Given the description of an element on the screen output the (x, y) to click on. 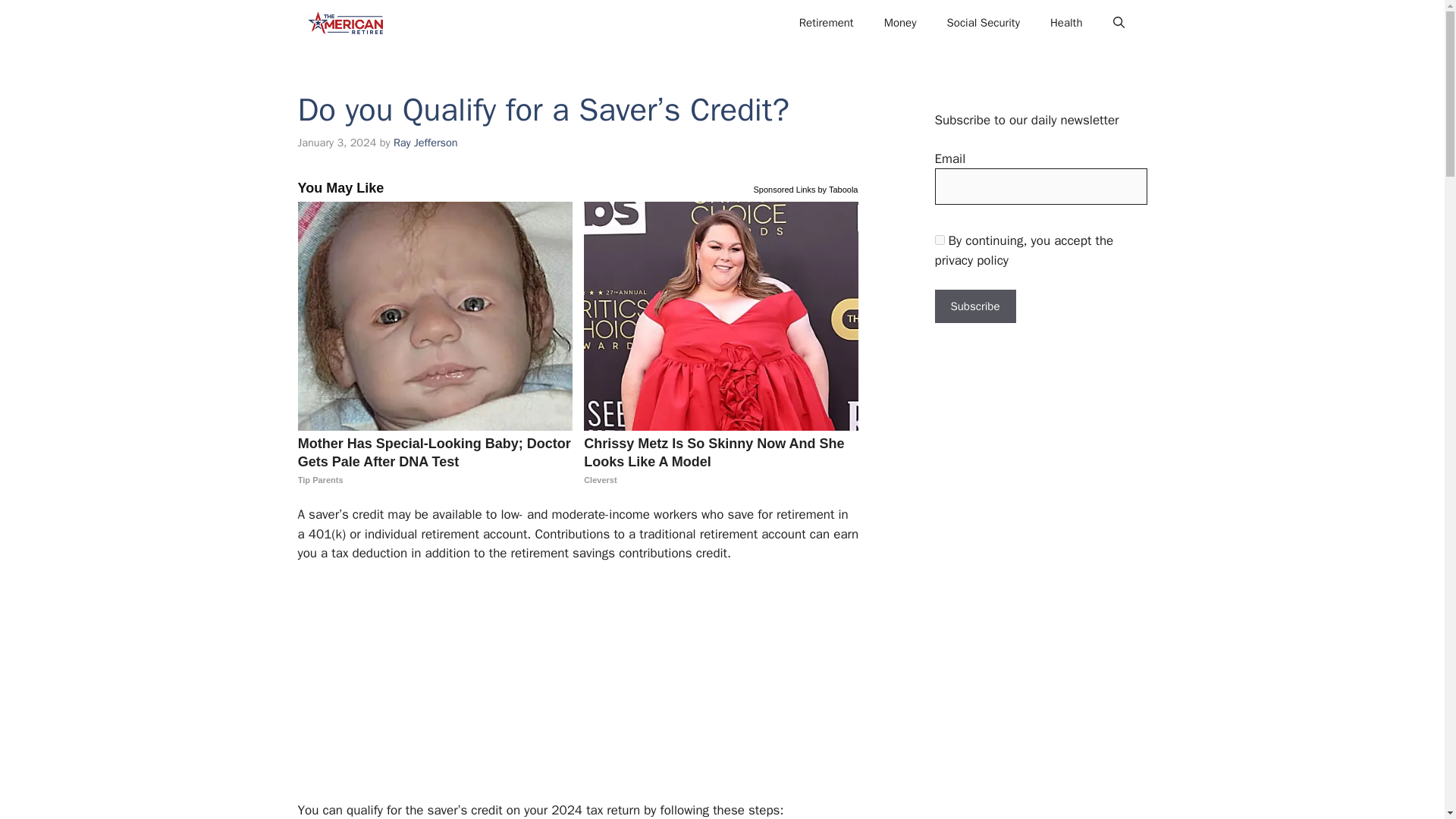
1 (938, 239)
Advertisement (570, 688)
Retirement (826, 22)
Health (1066, 22)
Sponsored Links (784, 187)
Subscribe (974, 306)
Ray Jefferson (425, 142)
by Taboola (836, 187)
Money (900, 22)
The American Retiree (344, 22)
Social Security (983, 22)
View all posts by Ray Jefferson (425, 142)
